Given the description of an element on the screen output the (x, y) to click on. 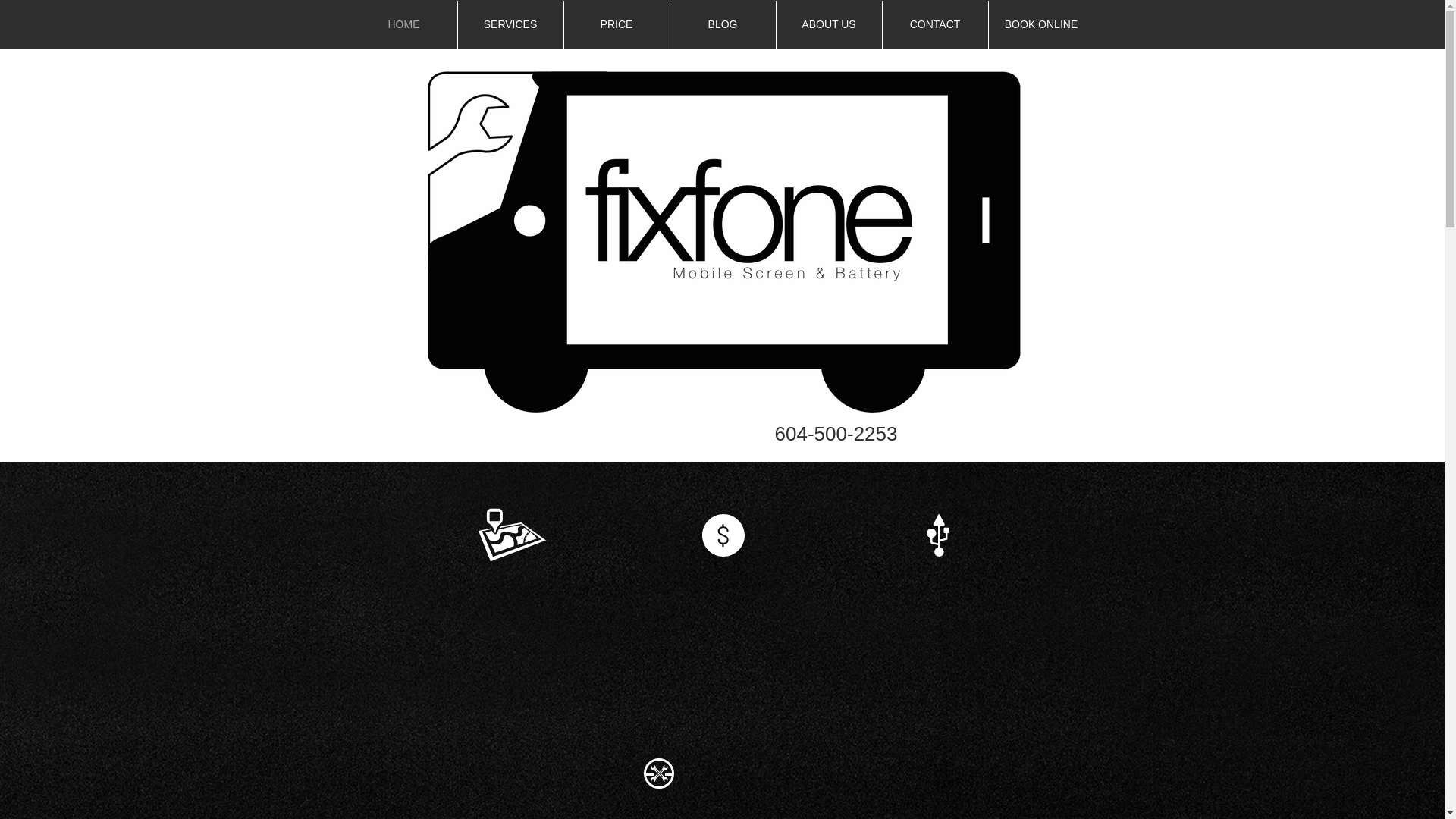
CONTACT (935, 24)
HOME (403, 24)
BLOG (722, 24)
ABOUT US (829, 24)
PRICE (616, 24)
BOOK ONLINE (1041, 24)
SERVICES (510, 24)
